Given the description of an element on the screen output the (x, y) to click on. 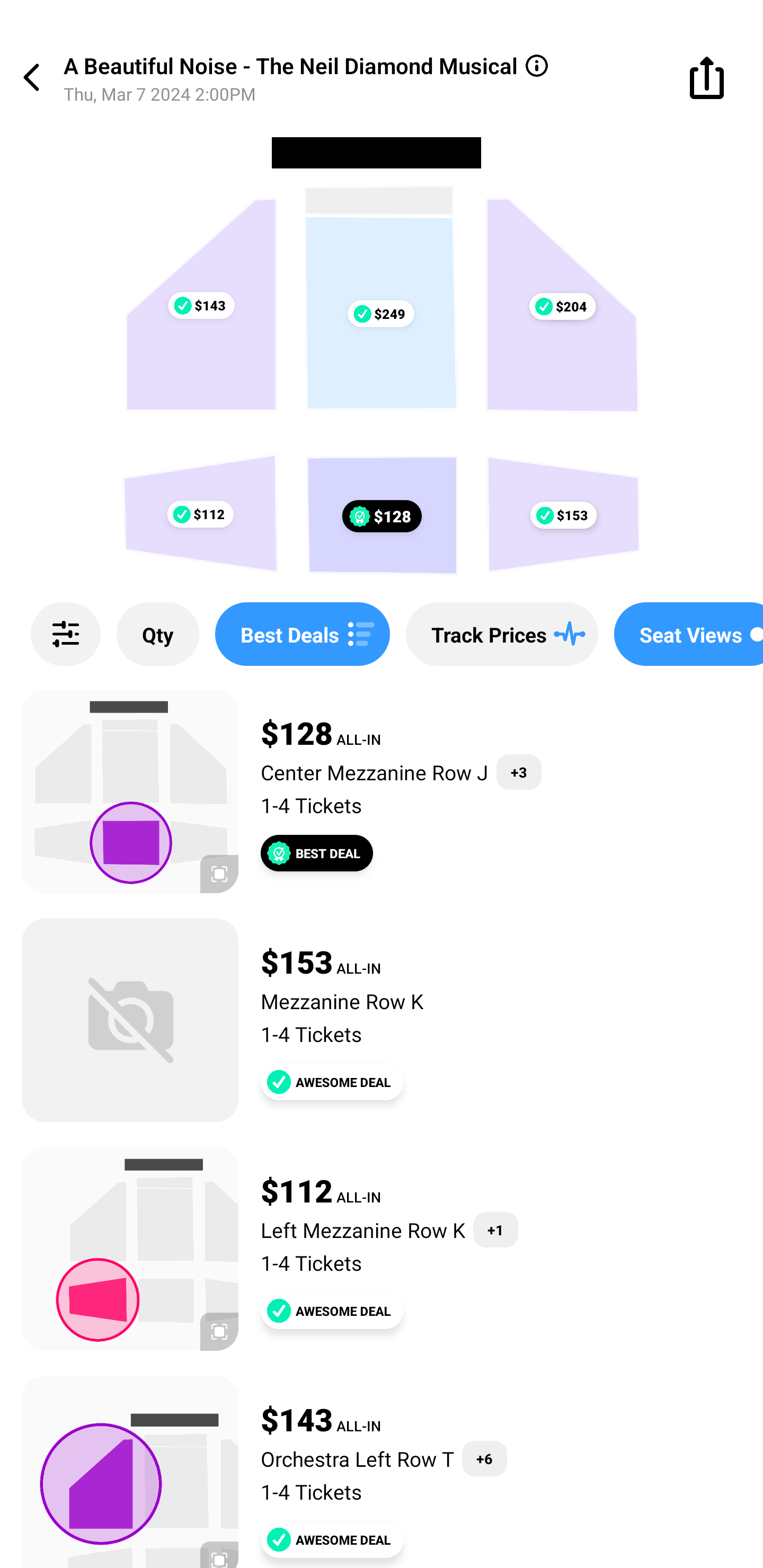
$249 (380, 313)
Qty (157, 634)
Best Deals (302, 634)
Track Prices (501, 634)
Seat Views (688, 634)
+3 (518, 772)
BEST DEAL (316, 852)
AWESOME DEAL (331, 1081)
+1 (495, 1230)
AWESOME DEAL (331, 1310)
+6 (484, 1458)
AWESOME DEAL (331, 1539)
